Given the description of an element on the screen output the (x, y) to click on. 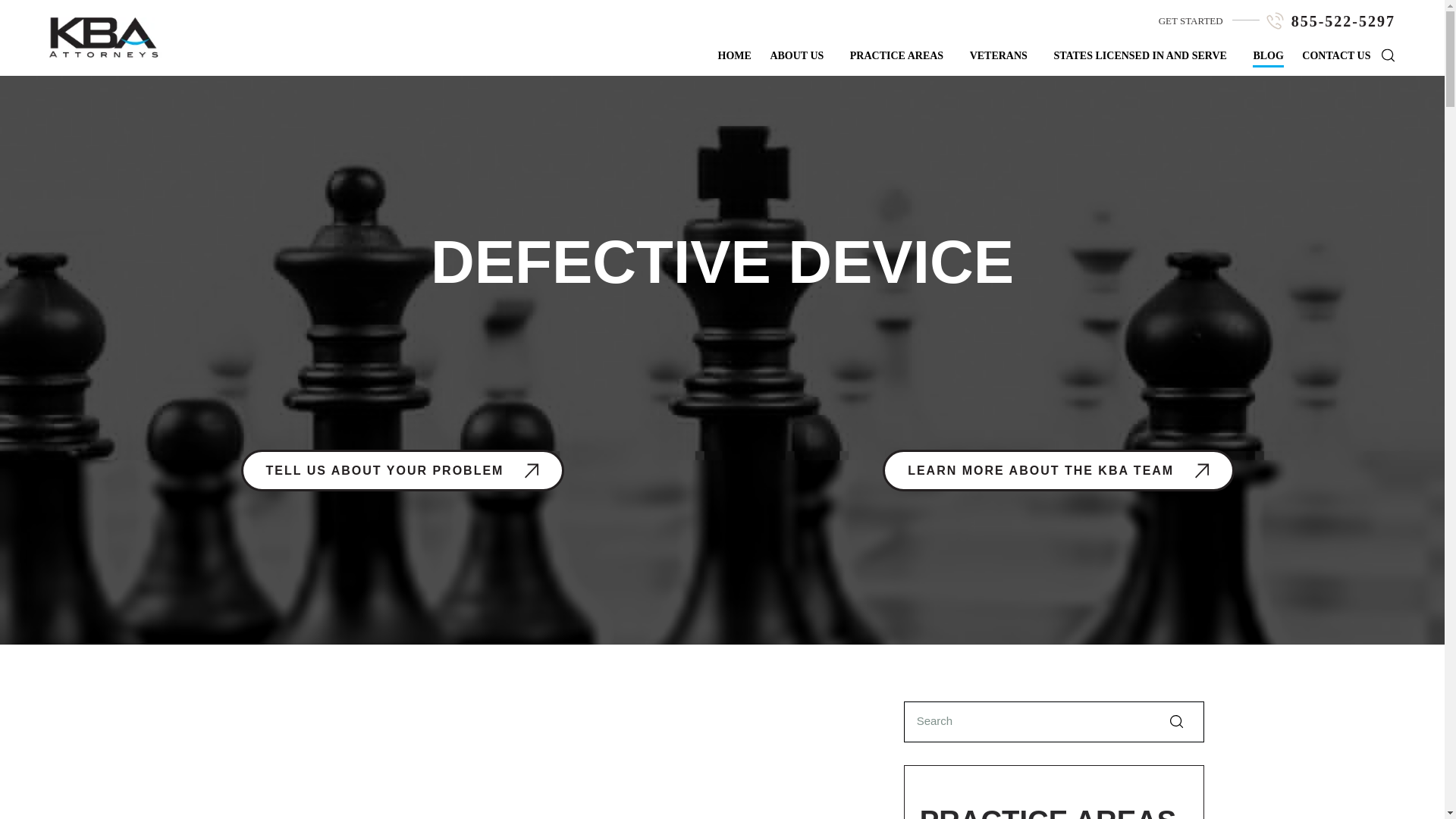
855-522-5297 (1342, 21)
PRACTICE AREAS (896, 55)
HOME (734, 55)
ABOUT US (797, 55)
